Given the description of an element on the screen output the (x, y) to click on. 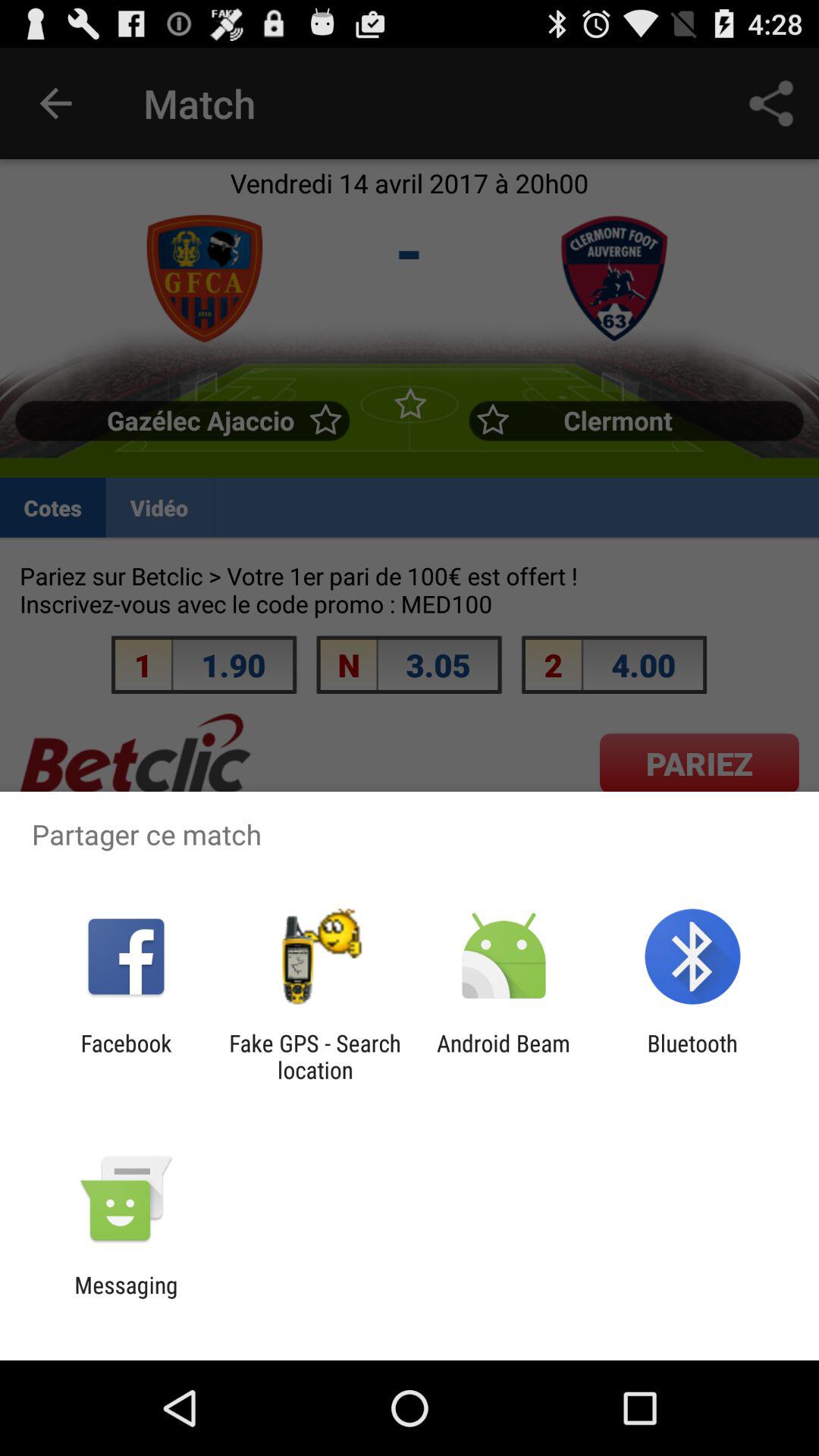
tap app to the left of the bluetooth (503, 1056)
